Given the description of an element on the screen output the (x, y) to click on. 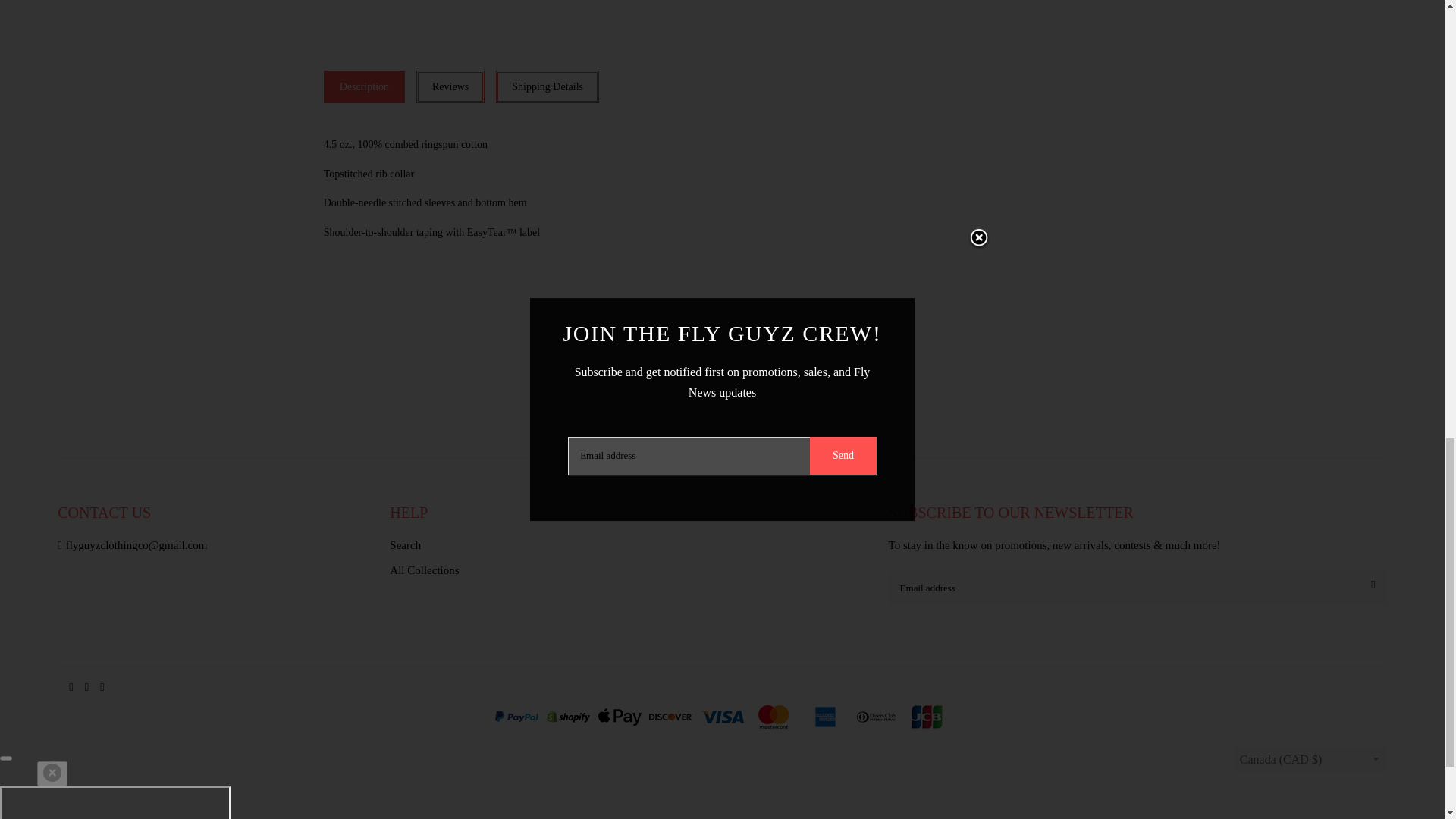
Instagram (86, 686)
Description (363, 87)
Reviews (450, 87)
Shipping Details (547, 87)
All Collections (623, 573)
Search (623, 548)
Facebook (70, 686)
RSS (101, 686)
